Given the description of an element on the screen output the (x, y) to click on. 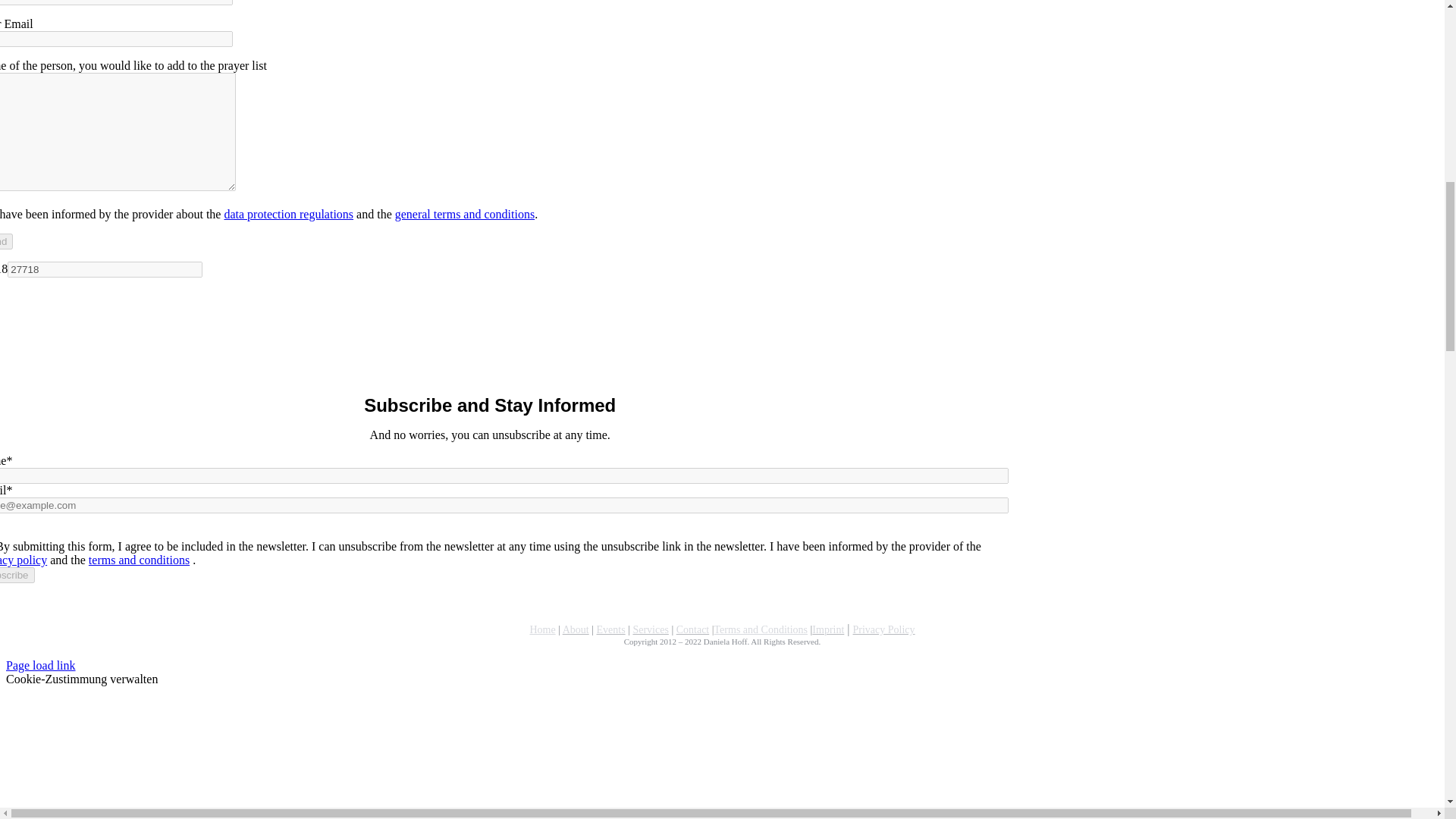
27718 (104, 269)
